Given the description of an element on the screen output the (x, y) to click on. 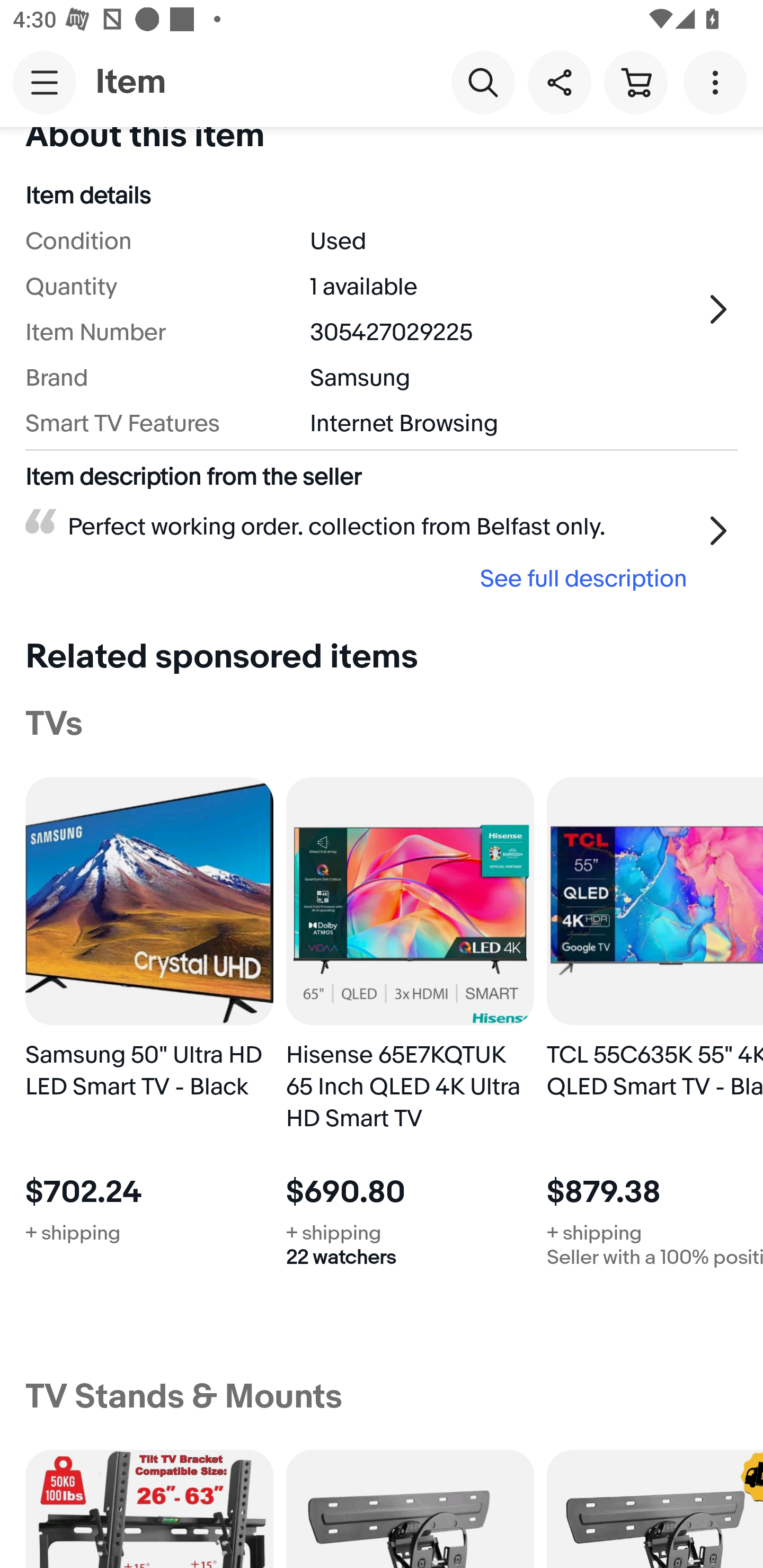
Main navigation, open (44, 82)
Search (482, 81)
Share this item (559, 81)
Cart button shopping cart (635, 81)
More options (718, 81)
See full description (362, 577)
